Given the description of an element on the screen output the (x, y) to click on. 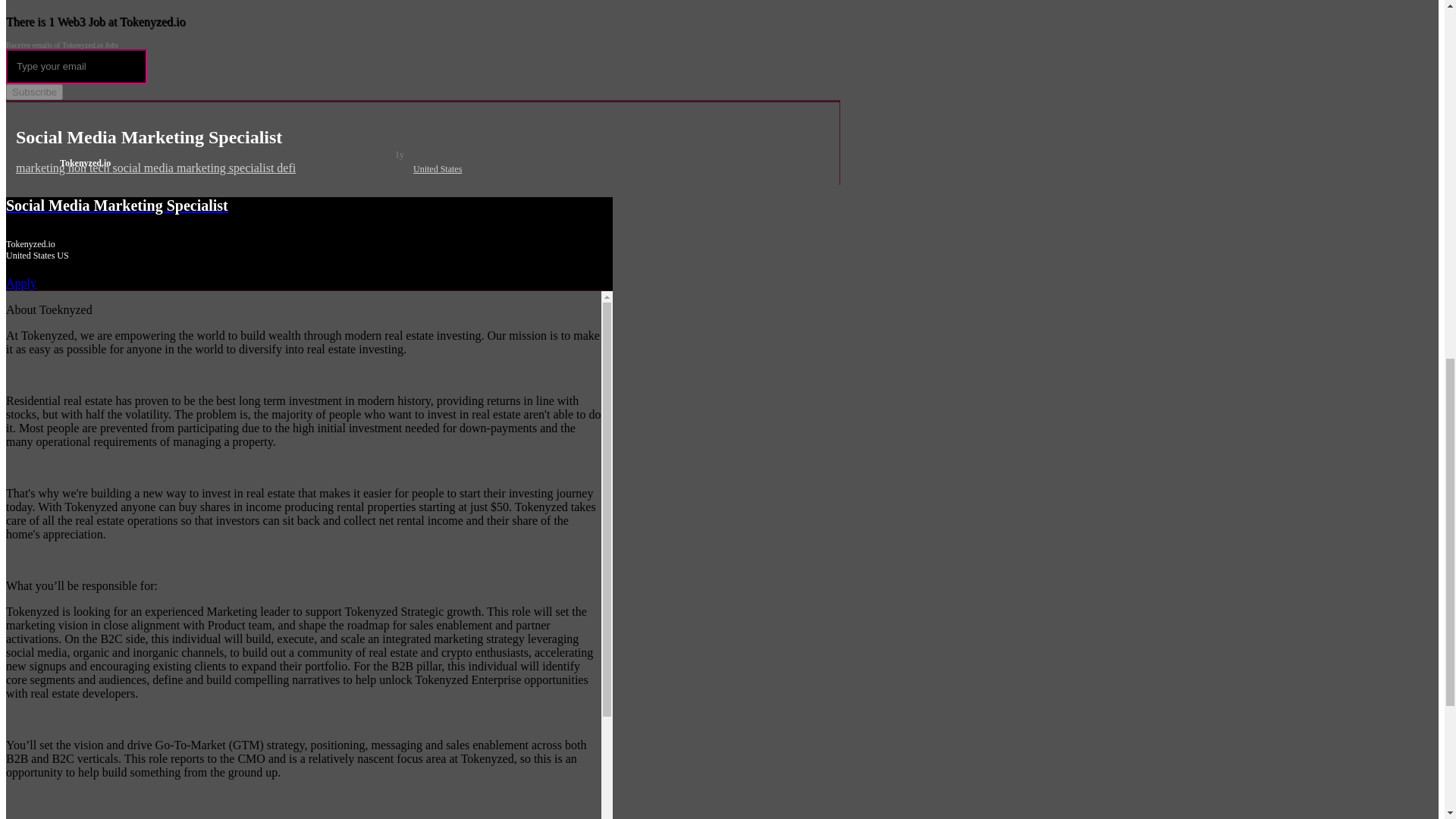
Subscribe (33, 91)
